Given the description of an element on the screen output the (x, y) to click on. 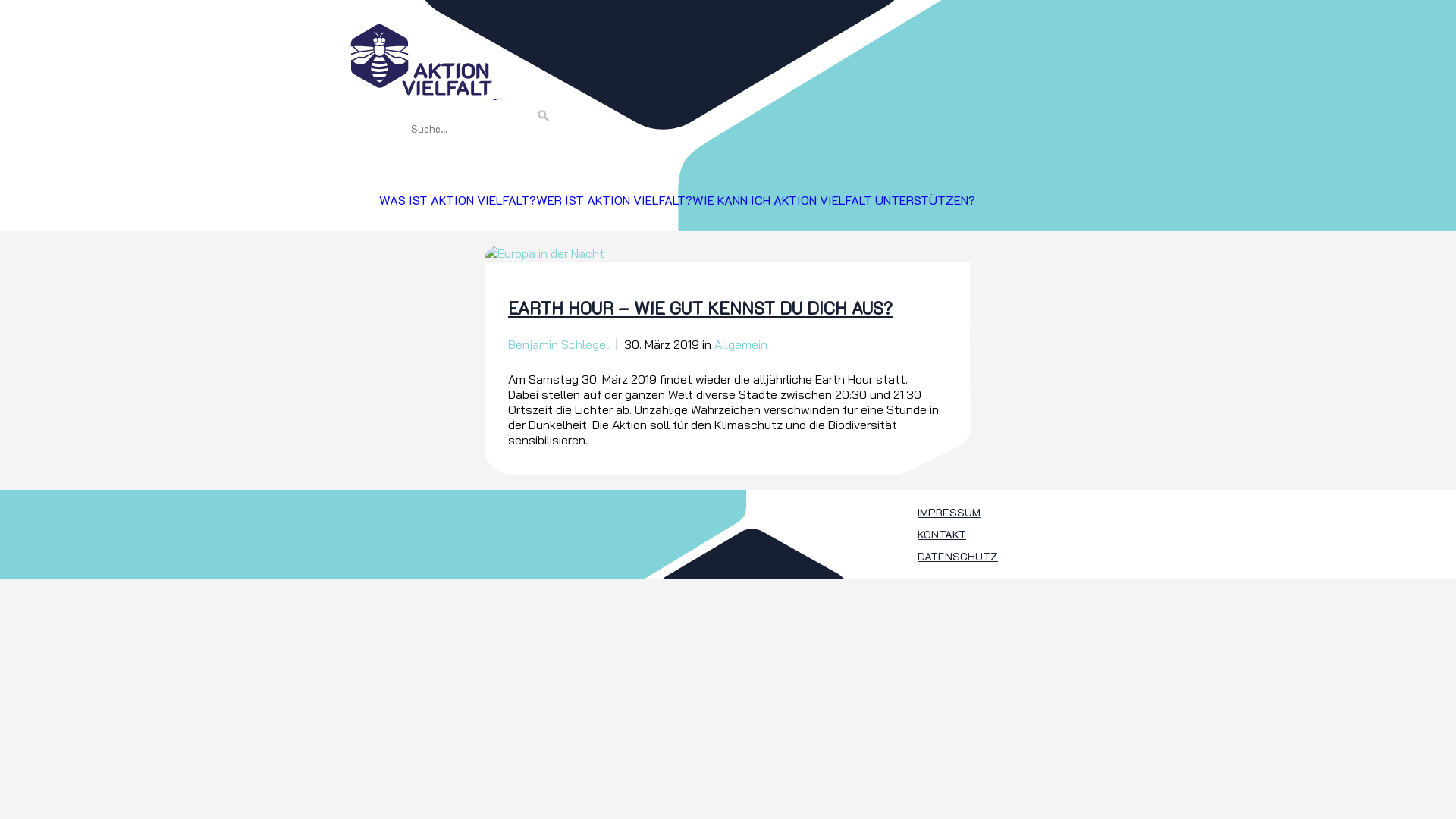
DATENSCHUTZ Element type: text (957, 556)
WER IST AKTION VIELFALT? Element type: text (614, 199)
IMPRESSUM Element type: text (948, 512)
Benjamin Schlegel Element type: text (558, 343)
WAS IST AKTION VIELFALT? Element type: text (457, 199)
KONTAKT Element type: text (941, 534)
Allgemein Element type: text (740, 343)
FEED Element type: text (393, 167)
